Given the description of an element on the screen output the (x, y) to click on. 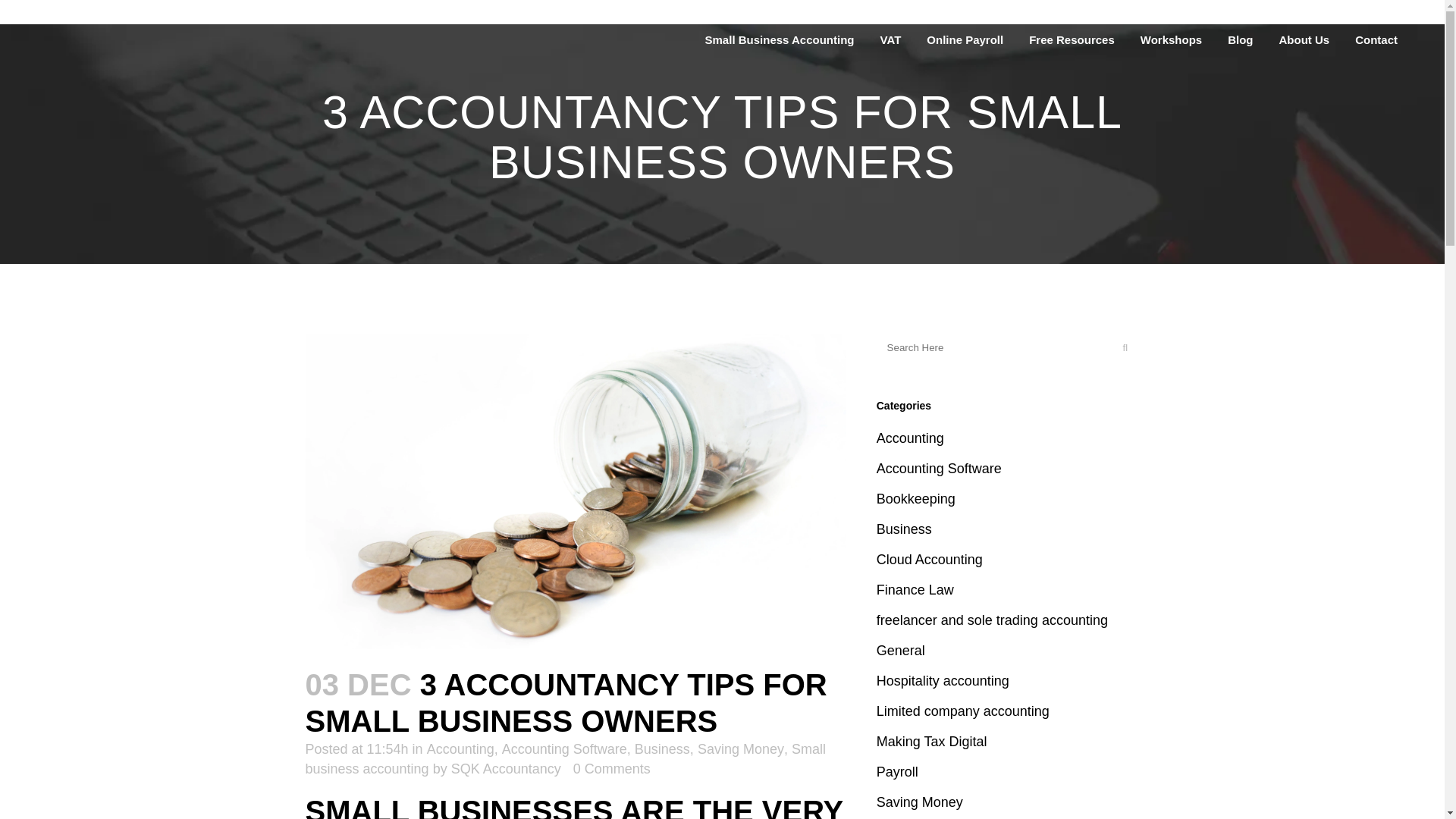
Saving Money (740, 749)
Accounting Software (564, 749)
Online Payroll Services (965, 40)
Small business accounting (564, 759)
Free Accounting Resources (1071, 40)
0 Comments (611, 768)
Small Business Accounting (780, 40)
Business (662, 749)
About Us (1303, 40)
SQK Accountancy (505, 768)
About SQK Accounting, Manchester (1303, 40)
Accounting (460, 749)
Workshops (1170, 40)
Workshops and Events (1170, 40)
Free Resources (1071, 40)
